Given the description of an element on the screen output the (x, y) to click on. 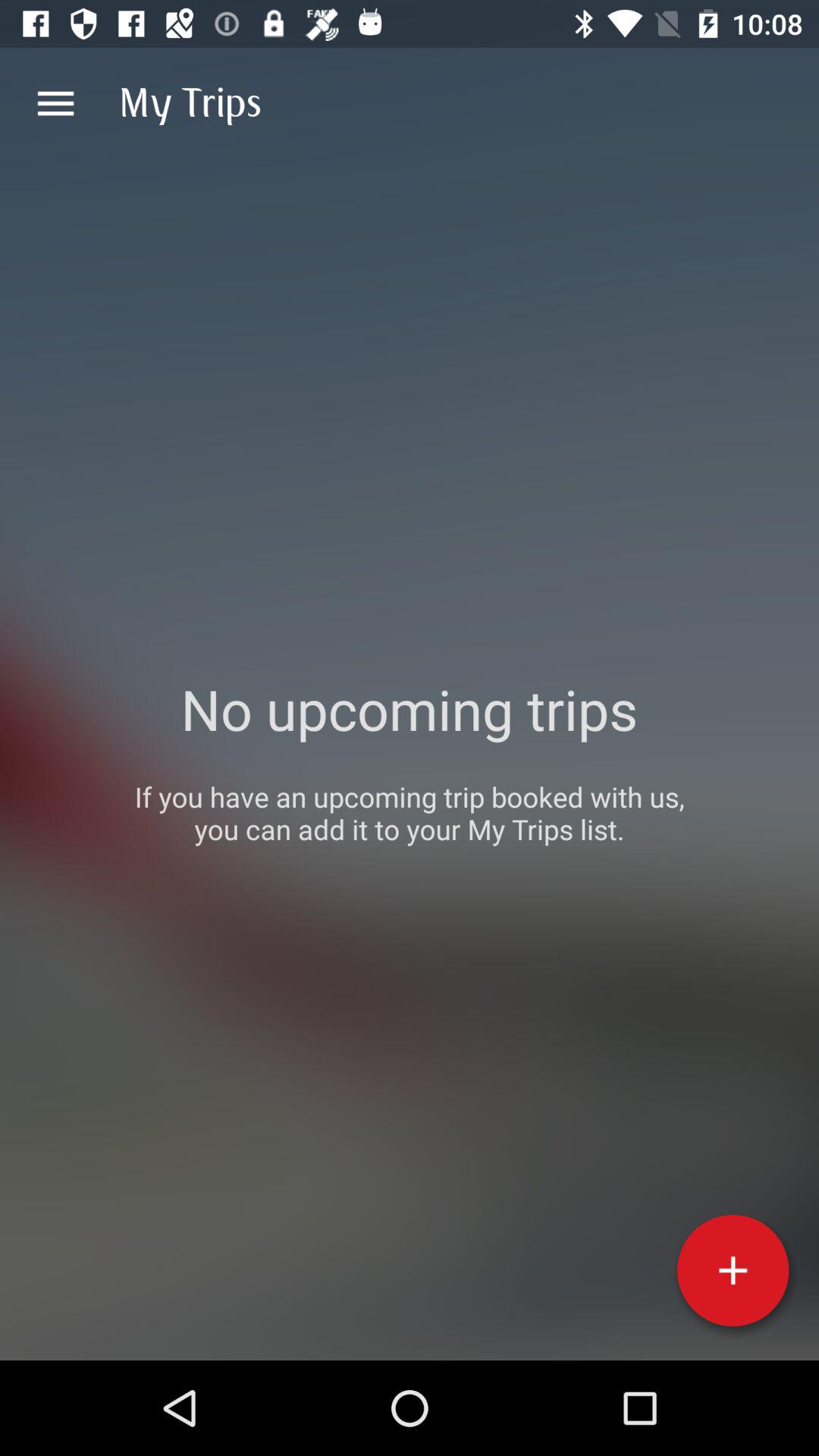
add a trip (733, 1270)
